Given the description of an element on the screen output the (x, y) to click on. 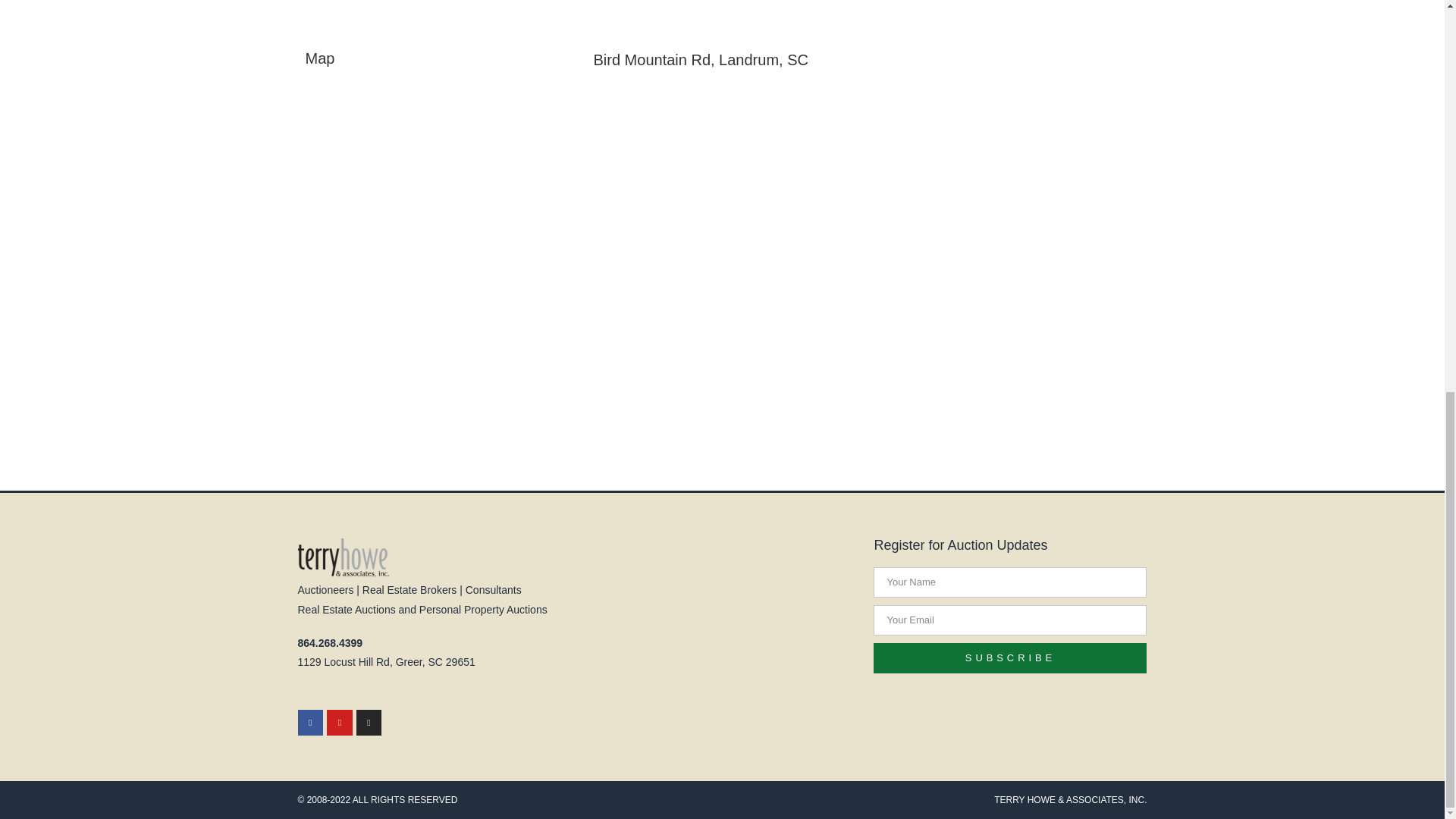
325 Bird Mountain Rd, Landrum, SC (433, 195)
SUBSCRIBE (1010, 657)
